Given the description of an element on the screen output the (x, y) to click on. 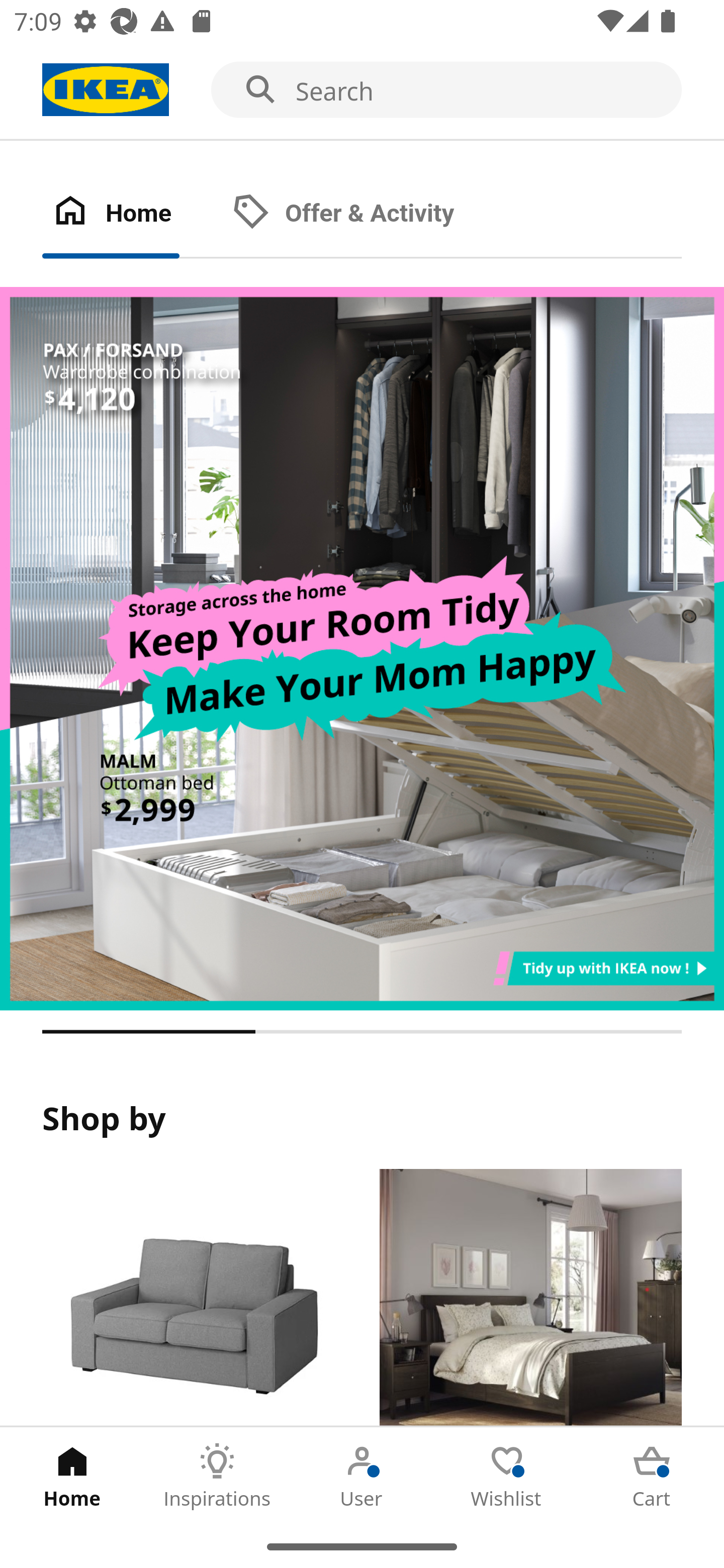
Search (361, 90)
Home
Tab 1 of 2 (131, 213)
Offer & Activity
Tab 2 of 2 (363, 213)
Products (192, 1297)
Rooms (530, 1297)
Home
Tab 1 of 5 (72, 1476)
Inspirations
Tab 2 of 5 (216, 1476)
User
Tab 3 of 5 (361, 1476)
Wishlist
Tab 4 of 5 (506, 1476)
Cart
Tab 5 of 5 (651, 1476)
